Given the description of an element on the screen output the (x, y) to click on. 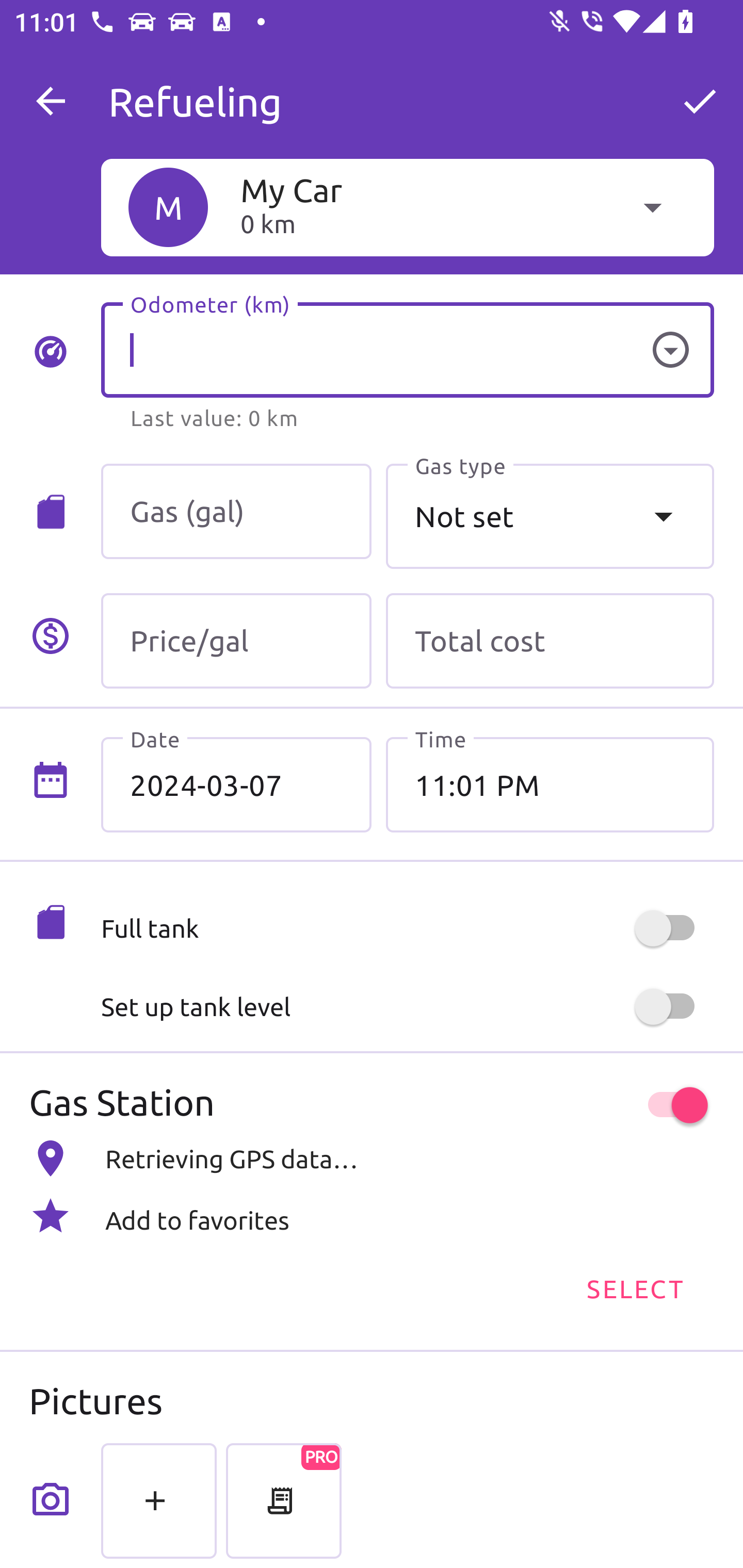
Navigate up (50, 101)
OK (699, 101)
M My Car 0 km (407, 206)
Odometer (km) (407, 350)
Odometer (670, 349)
Gas (gal) (236, 511)
Not set (549, 516)
Price/gal (236, 640)
Total cost  (549, 640)
2024-03-07 (236, 784)
11:01 PM (549, 784)
Full tank (407, 928)
Set up tank level (407, 1006)
Add to favorites (371, 1215)
SELECT (634, 1287)
